Given the description of an element on the screen output the (x, y) to click on. 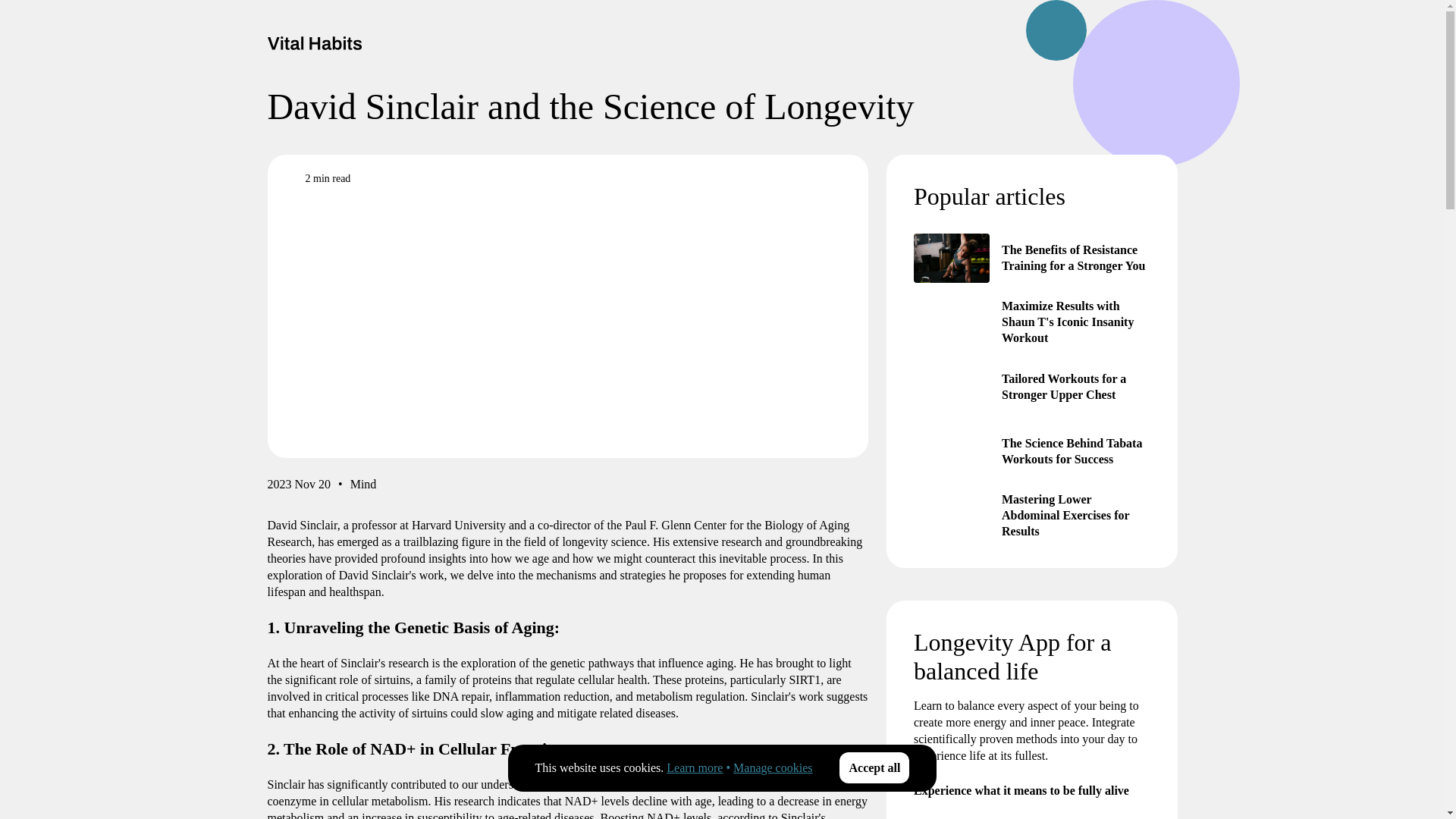
The Benefits of Resistance Training for a Stronger You (950, 257)
Mind (363, 486)
Learn more (694, 767)
